Given the description of an element on the screen output the (x, y) to click on. 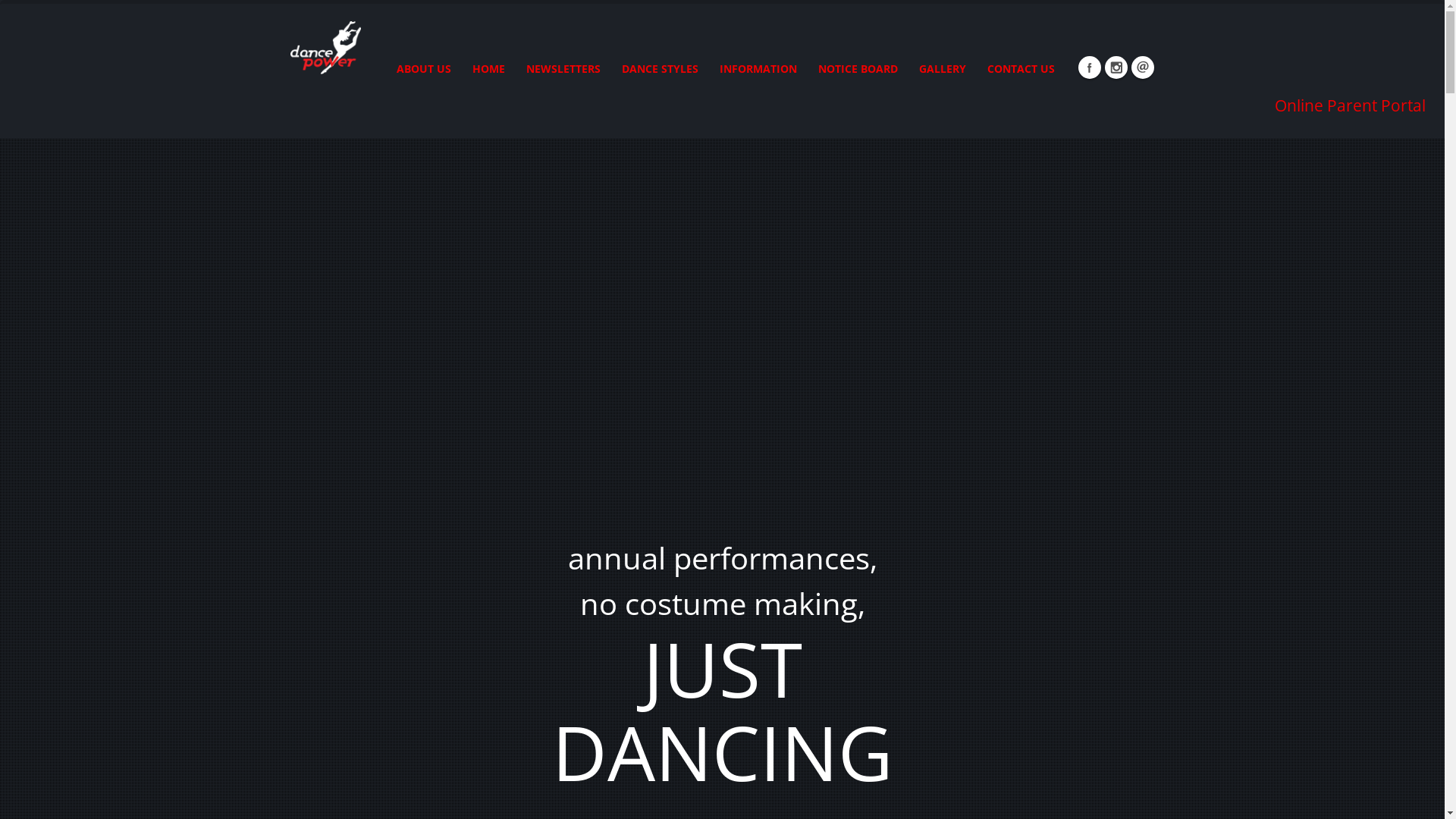
DANCE STYLES Element type: text (659, 68)
NOTICE BOARD Element type: text (857, 68)
Instagram Element type: text (1115, 67)
CONTACT US Element type: text (1019, 68)
Dance Power Element type: hover (324, 44)
Online Parent Portal Element type: text (1349, 105)
ABOUT US Element type: text (423, 68)
Facebook Element type: text (1089, 67)
GALLERY Element type: text (941, 68)
Contactus Element type: text (1142, 67)
NEWSLETTERS Element type: text (562, 68)
HOME Element type: text (488, 68)
INFORMATION Element type: text (757, 68)
